Given the description of an element on the screen output the (x, y) to click on. 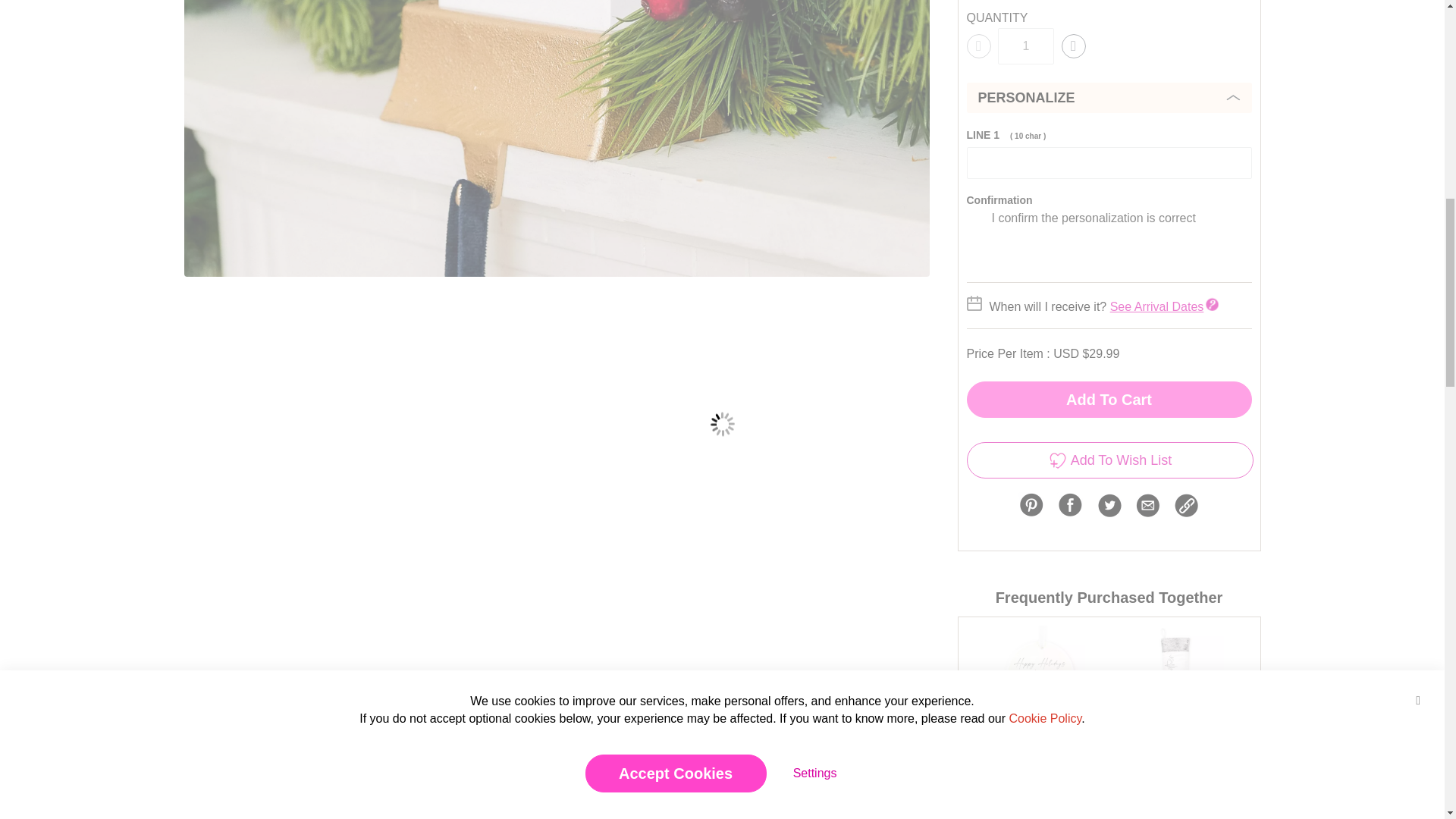
1 (1025, 45)
Qty (1025, 45)
Add to Cart (1108, 399)
